Given the description of an element on the screen output the (x, y) to click on. 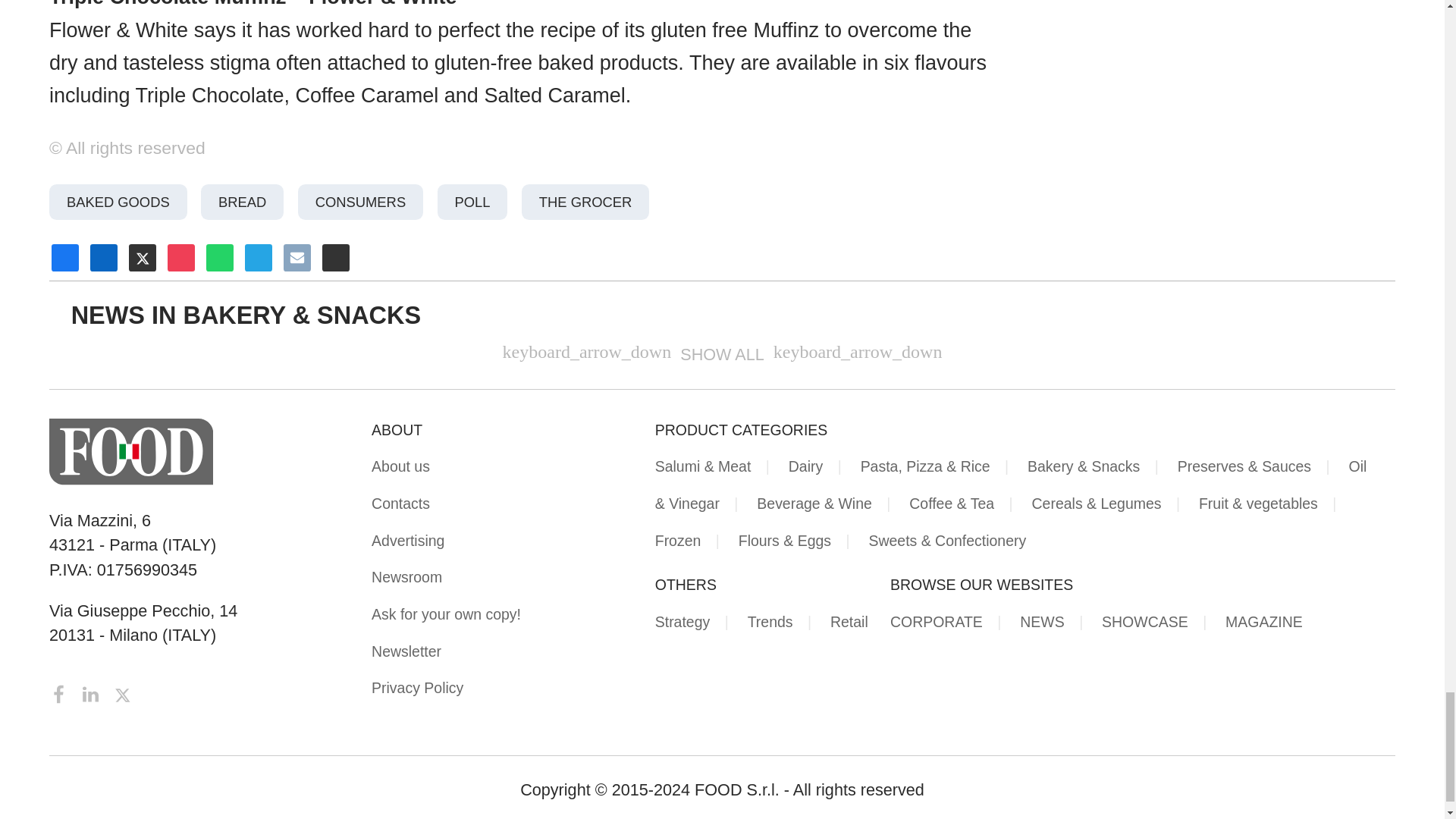
X-Twitter (122, 692)
Facebook (60, 692)
LinkedIn (92, 692)
